Given the description of an element on the screen output the (x, y) to click on. 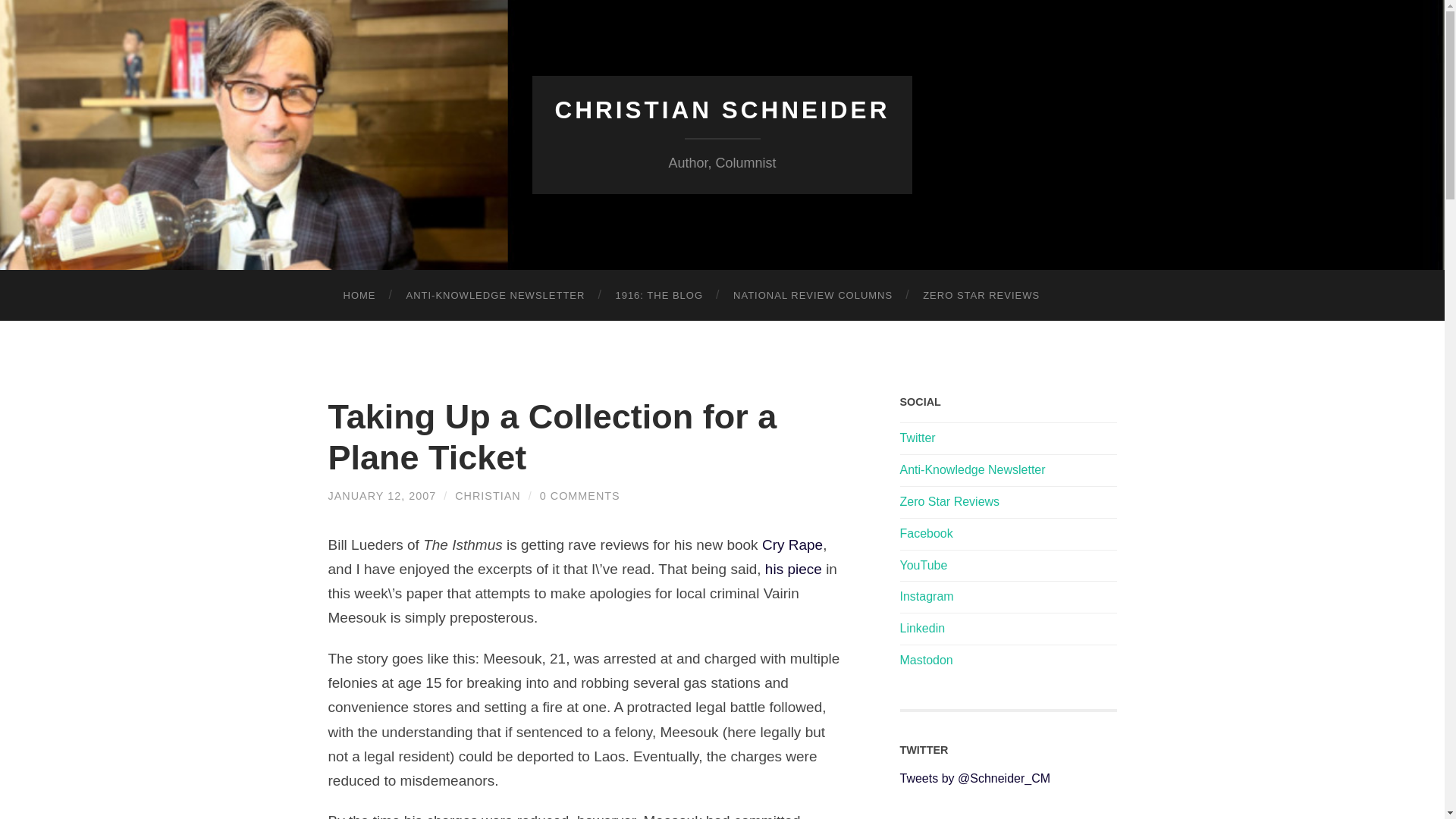
Posts by Christian (487, 495)
Zero Star Reviews (948, 501)
ANTI-KNOWLEDGE NEWSLETTER (495, 295)
his piece (795, 569)
YouTube (923, 564)
Cry Rape (791, 544)
JANUARY 12, 2007 (381, 495)
Taking Up a Collection for a Plane Ticket (551, 436)
Linkedin (921, 627)
0 COMMENTS (580, 495)
CHRISTIAN (487, 495)
HOME (358, 295)
Twitter (916, 437)
Instagram (926, 595)
Anti-Knowledge Newsletter (972, 469)
